Given the description of an element on the screen output the (x, y) to click on. 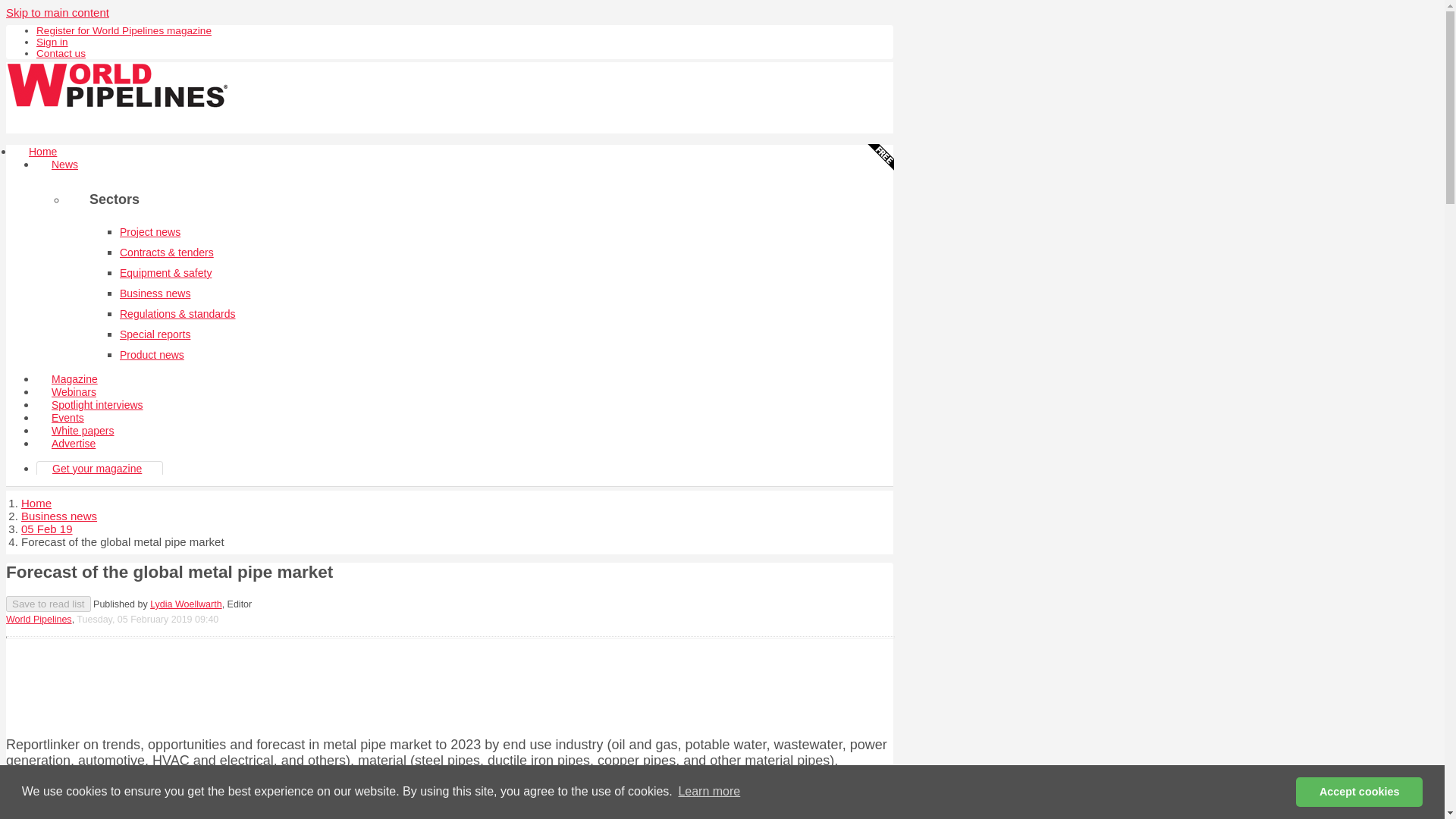
News (64, 164)
Learn more (708, 791)
Home (35, 502)
Webinars (74, 391)
Save to read list (47, 603)
Sign in (52, 41)
05 Feb 19 (46, 528)
Contact us (60, 52)
Events (67, 417)
Skip to main content (57, 11)
Business news (59, 515)
Spotlight interviews (97, 404)
Project news (149, 232)
Sign in (52, 41)
Register for your magazine (123, 30)
